Given the description of an element on the screen output the (x, y) to click on. 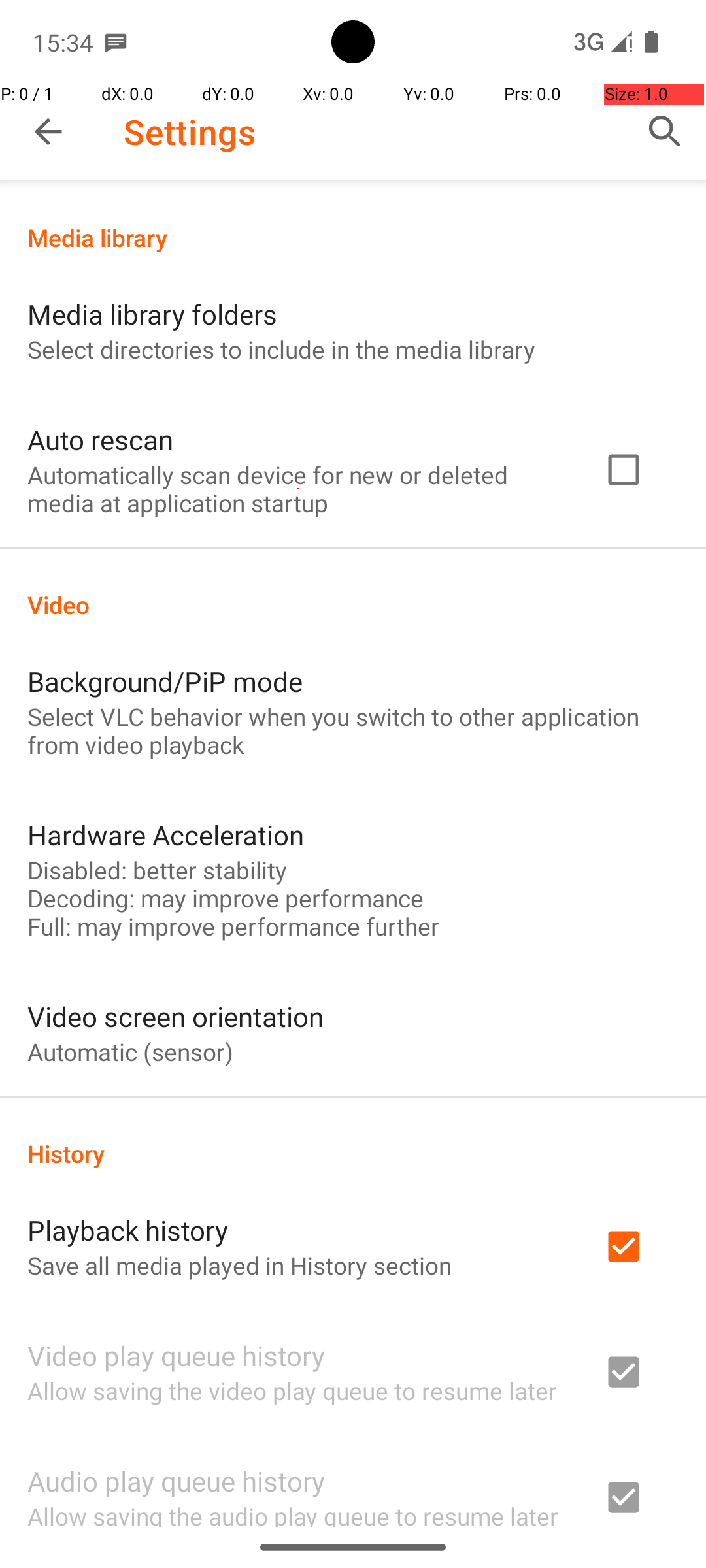
Media library Element type: android.widget.TextView (352, 237)
Media library folders Element type: android.widget.TextView (152, 313)
Select directories to include in the media library Element type: android.widget.TextView (281, 348)
Auto rescan Element type: android.widget.TextView (100, 438)
Automatically scan device for new or deleted media at application startup Element type: android.widget.TextView (297, 488)
Background/PiP mode Element type: android.widget.TextView (165, 680)
Select VLC behavior when you switch to other application from video playback Element type: android.widget.TextView (352, 730)
Hardware Acceleration Element type: android.widget.TextView (165, 834)
Disabled: better stability
Decoding: may improve performance
Full: may improve performance further Element type: android.widget.TextView (233, 897)
Video screen orientation Element type: android.widget.TextView (175, 1015)
Automatic (sensor) Element type: android.widget.TextView (130, 1051)
Playback history Element type: android.widget.TextView (127, 1229)
Save all media played in History section Element type: android.widget.TextView (239, 1264)
Video play queue history Element type: android.widget.TextView (175, 1354)
Allow saving the video play queue to resume later Element type: android.widget.TextView (291, 1390)
Audio play queue history Element type: android.widget.TextView (176, 1480)
Allow saving the audio play queue to resume later Element type: android.widget.TextView (292, 1512)
